Given the description of an element on the screen output the (x, y) to click on. 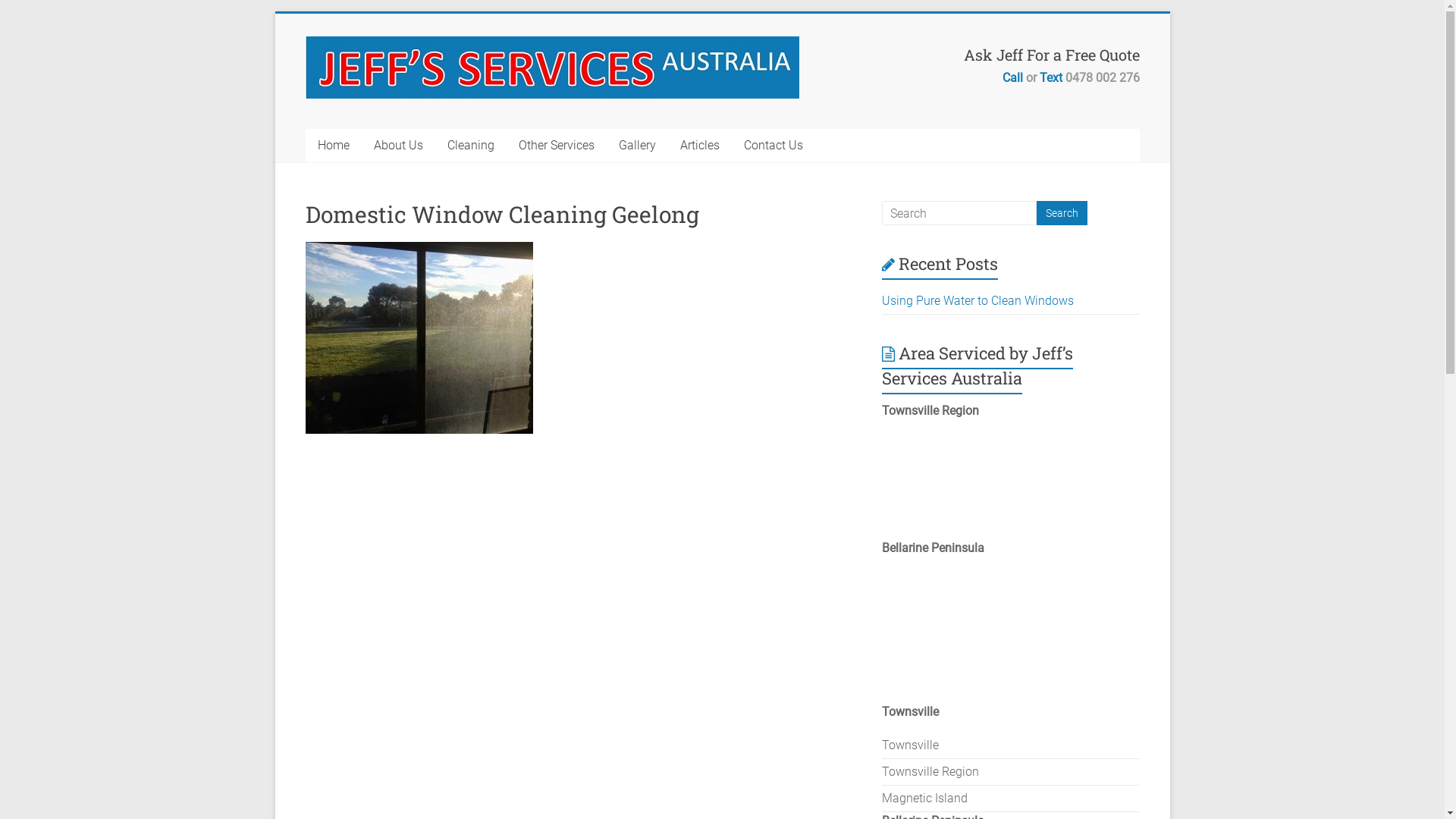
Gallery Element type: text (637, 145)
Call Element type: text (1012, 77)
Jeff's Services Australia Element type: text (363, 86)
Cleaning Element type: text (470, 145)
Skip to content Element type: text (274, 12)
Home Element type: text (332, 145)
Other Services Element type: text (556, 145)
Articles Element type: text (699, 145)
Search Element type: text (1060, 212)
Using Pure Water to Clean Windows Element type: text (977, 300)
Text Element type: text (1049, 77)
Contact Us Element type: text (772, 145)
About Us Element type: text (397, 145)
